Given the description of an element on the screen output the (x, y) to click on. 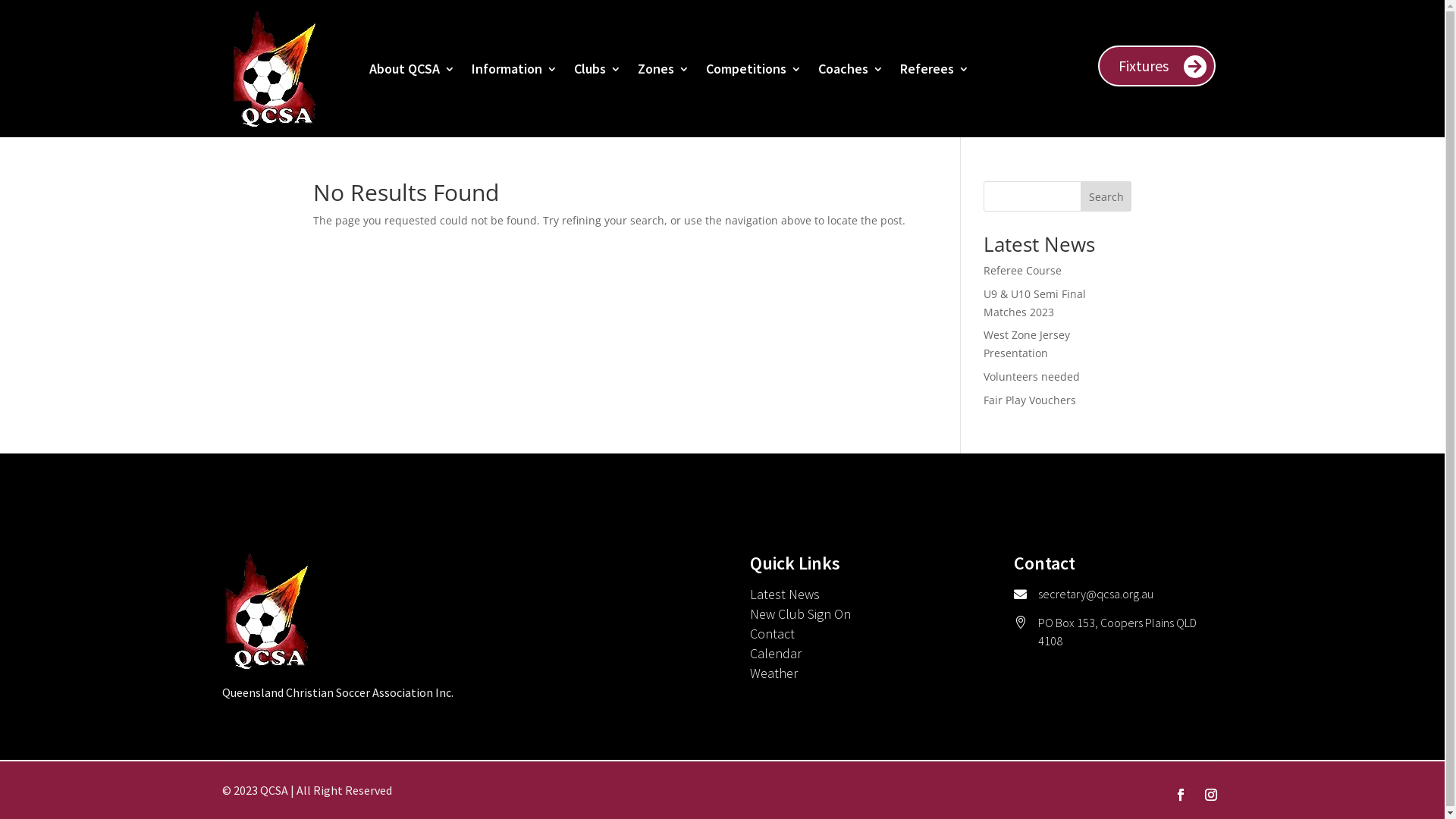
New Club Sign On Element type: text (799, 613)
Competitions Element type: text (752, 68)
Fixtures Element type: text (1156, 65)
West Zone Jersey Presentation Element type: text (1026, 343)
Follow on Instagram Element type: hover (1210, 794)
Referees Element type: text (933, 68)
Calendar Element type: text (775, 653)
Referee Course Element type: text (1022, 270)
U9 & U10 Semi Final Matches 2023 Element type: text (1034, 302)
Contact Element type: text (771, 633)
QCSA Logo No Tagline Element type: hover (266, 610)
About QCSA Element type: text (411, 68)
Information Element type: text (514, 68)
Latest News Element type: text (784, 593)
Fair Play Vouchers Element type: text (1029, 399)
Weather Element type: text (773, 672)
Search Element type: text (1106, 196)
Volunteers needed Element type: text (1031, 376)
Follow on Facebook Element type: hover (1179, 794)
Zones Element type: text (662, 68)
secretary@qcsa.org.au Element type: text (1095, 593)
Coaches Element type: text (849, 68)
Clubs Element type: text (596, 68)
